Given the description of an element on the screen output the (x, y) to click on. 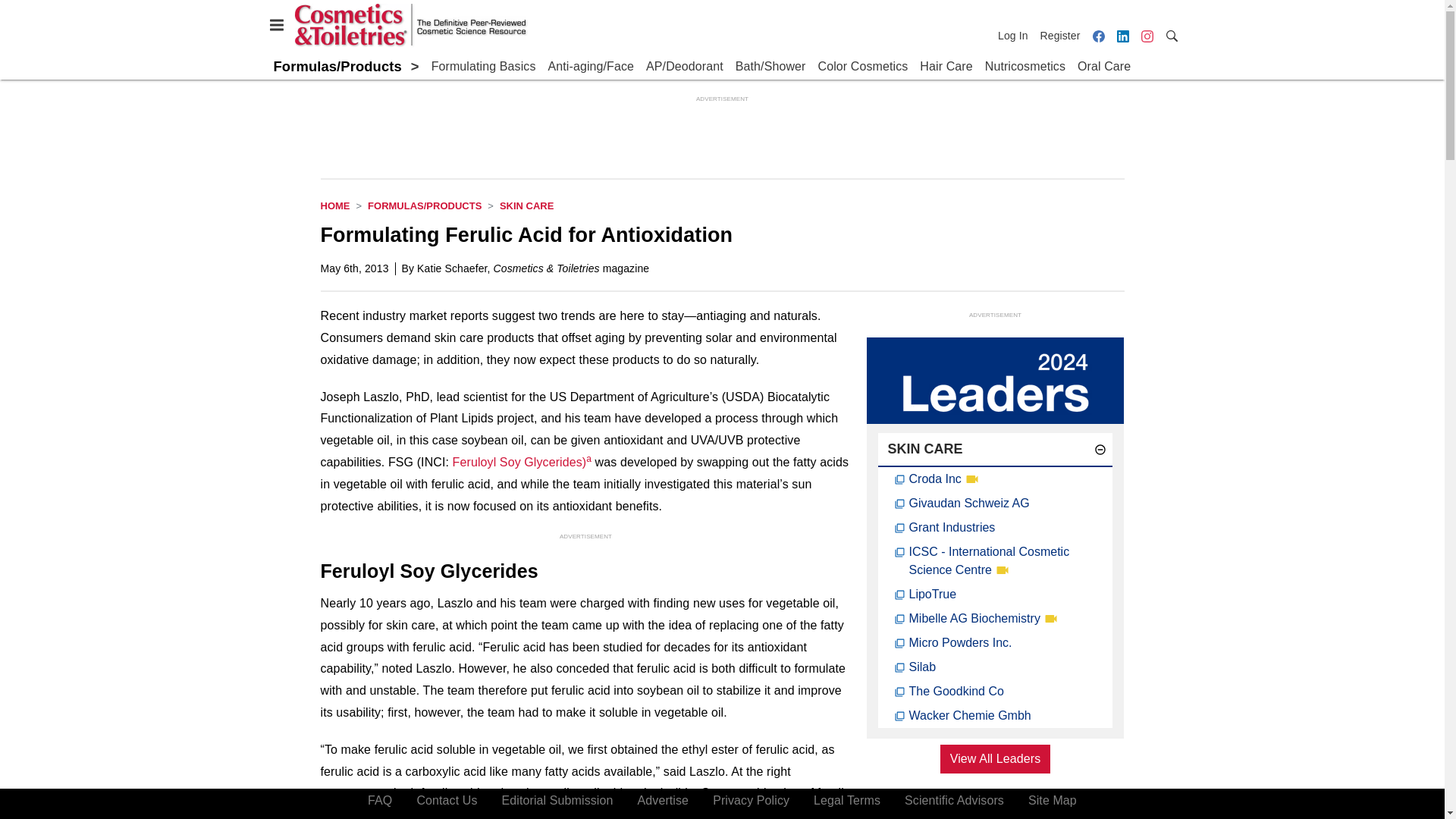
Instagram icon (1146, 36)
Facebook icon (1097, 36)
Search (1170, 34)
LinkedIn icon (1122, 36)
